Given the description of an element on the screen output the (x, y) to click on. 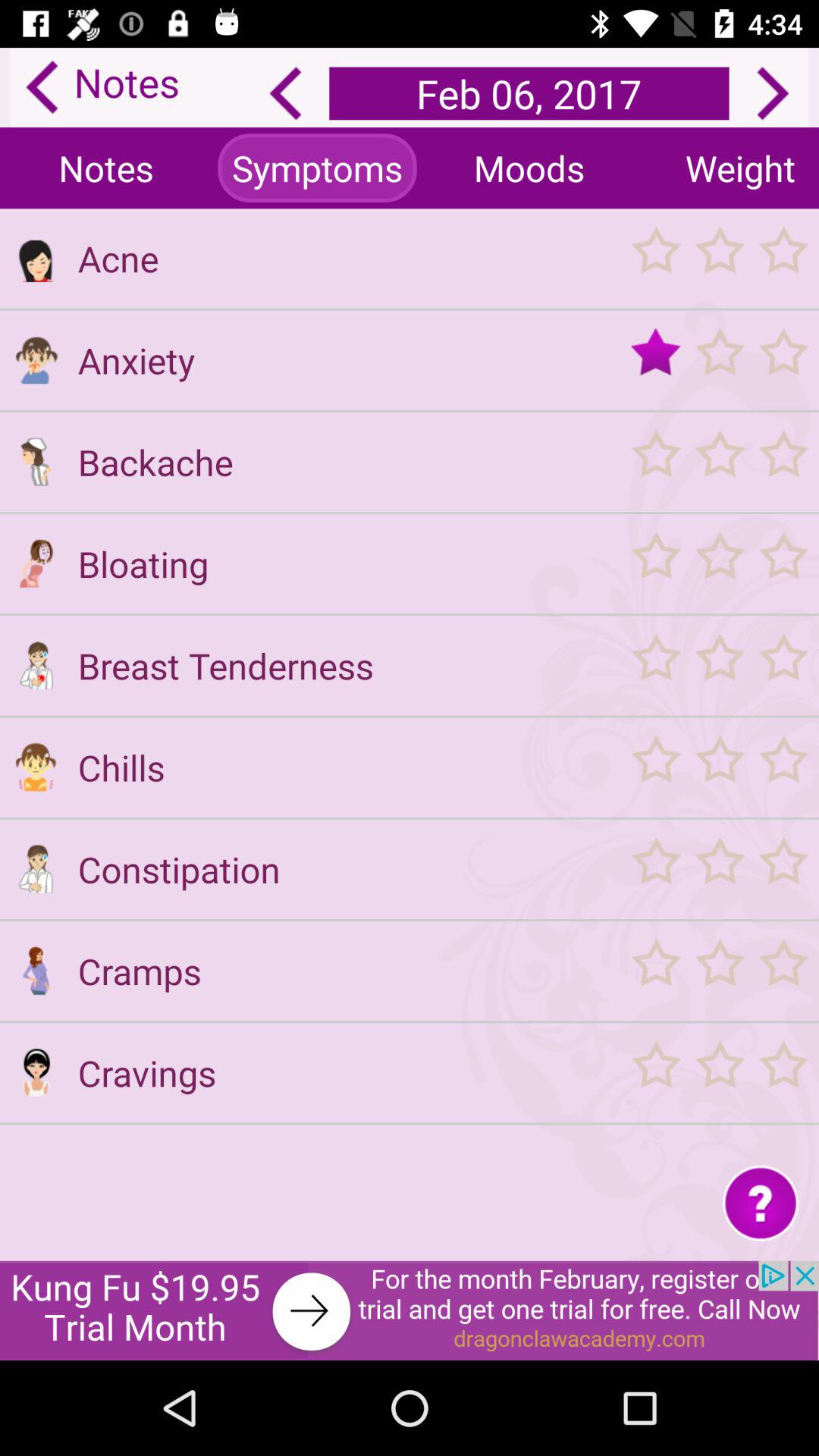
open help menu (760, 1202)
